Given the description of an element on the screen output the (x, y) to click on. 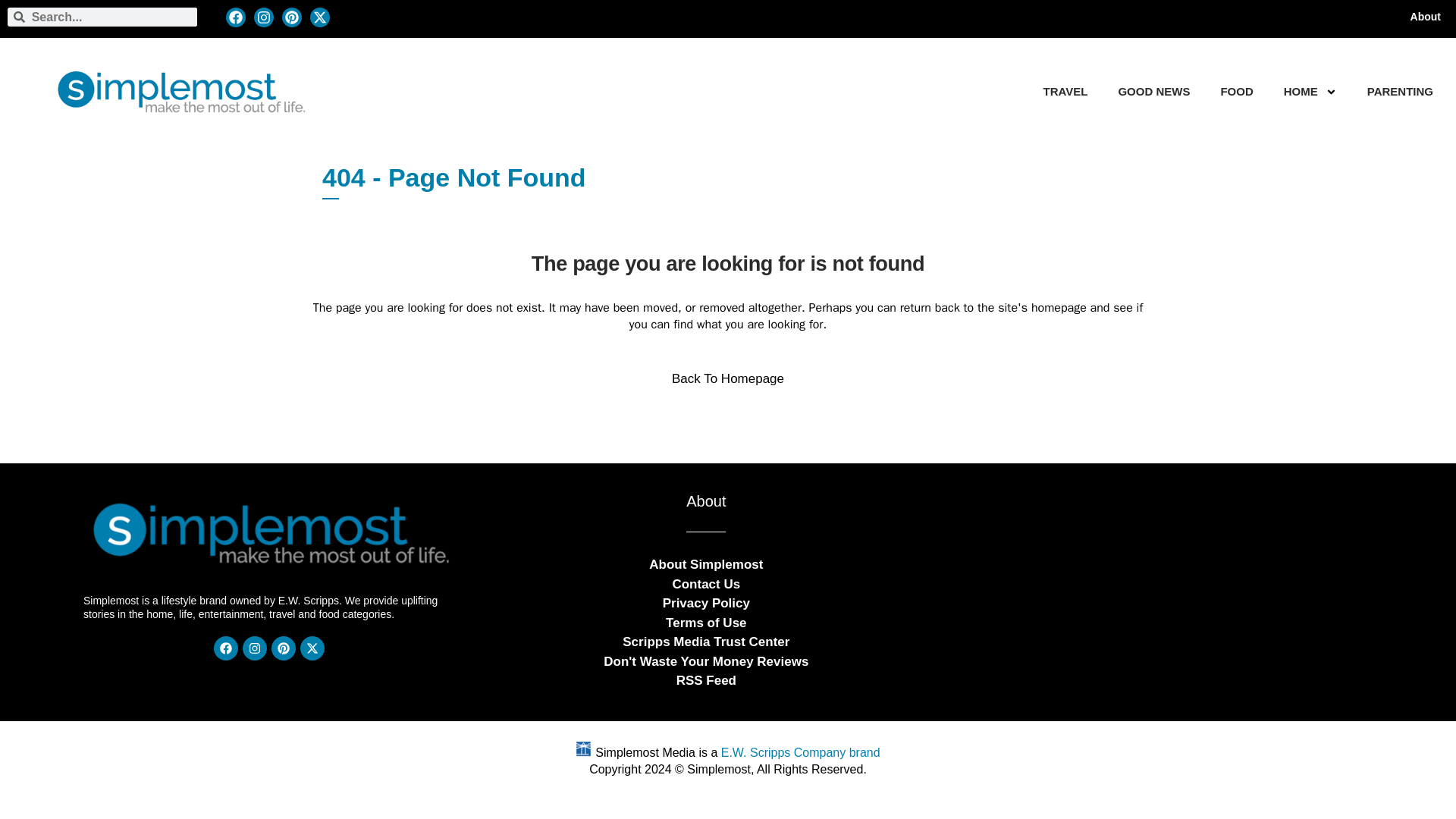
About Simplemost (705, 564)
GOOD NEWS (1153, 91)
RSS Feed (706, 680)
FOOD (1236, 91)
Terms of Use (705, 622)
Scripps Media Trust Center (706, 641)
Don't Waste Your Money Reviews (706, 661)
TRAVEL (1065, 91)
HOME (1300, 91)
About (1425, 16)
Privacy Policy (705, 602)
PARENTING (1399, 91)
E.W. Scripps Company brand (800, 752)
Back To Homepage (727, 379)
Contact Us (705, 584)
